Given the description of an element on the screen output the (x, y) to click on. 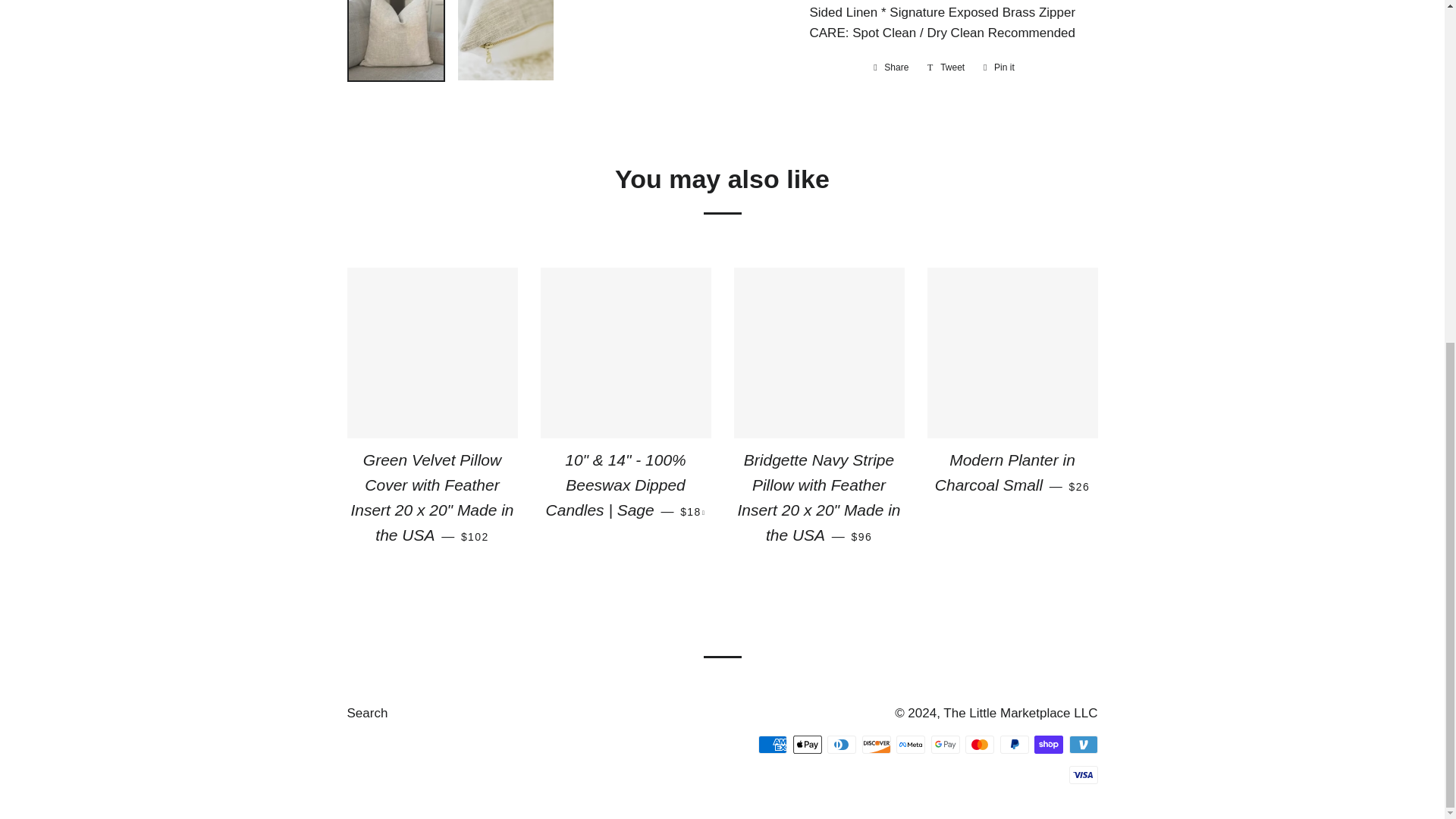
Shop Pay (1047, 744)
Tweet on Twitter (946, 66)
American Express (772, 744)
Mastercard (979, 744)
Venmo (1082, 744)
Share on Facebook (890, 66)
Pin on Pinterest (998, 66)
Google Pay (945, 744)
Meta Pay (910, 744)
Discover (875, 744)
Diners Club (841, 744)
PayPal (1012, 744)
Visa (1082, 774)
Apple Pay (807, 744)
